Given the description of an element on the screen output the (x, y) to click on. 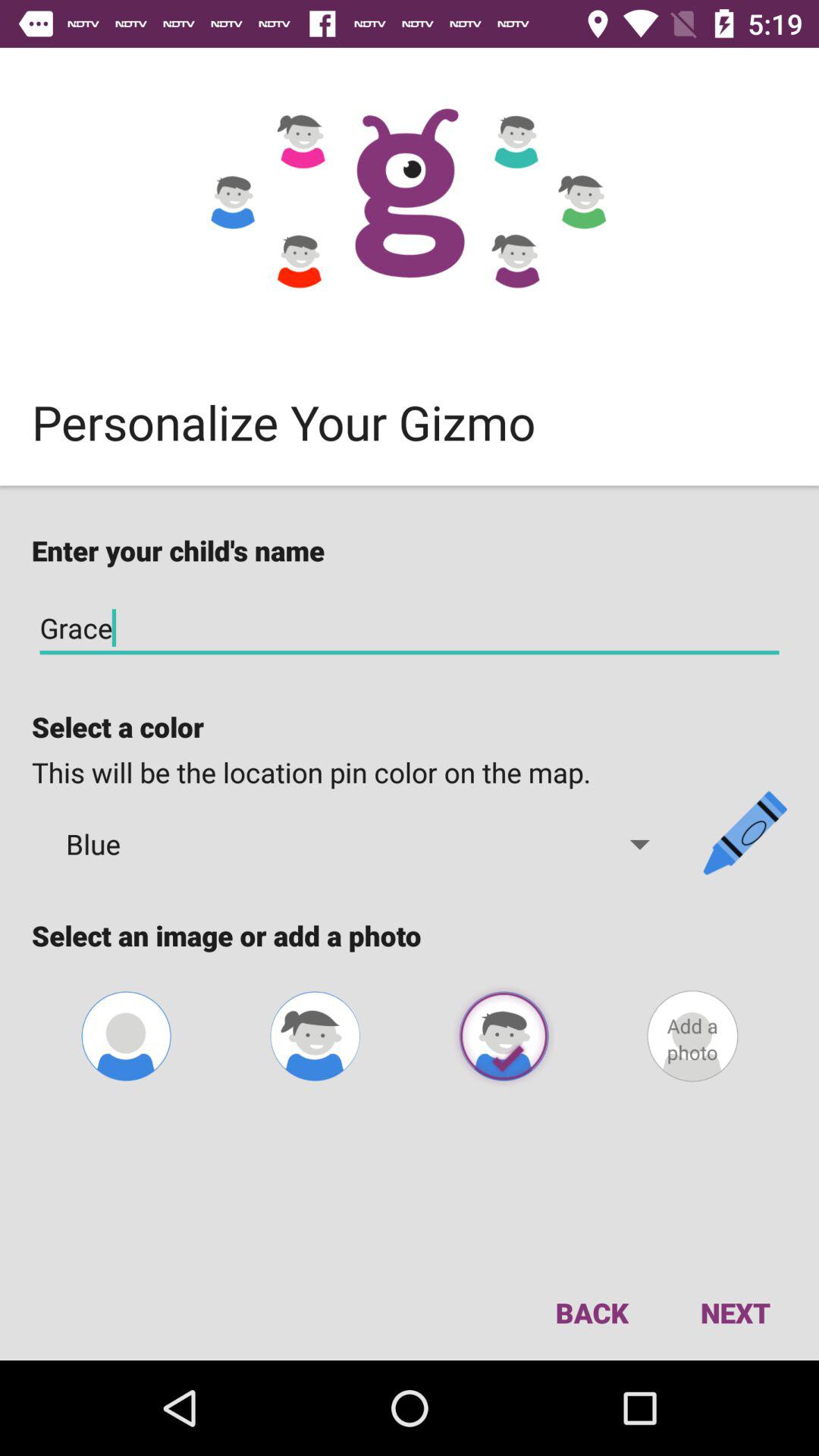
photo profile (126, 1036)
